Given the description of an element on the screen output the (x, y) to click on. 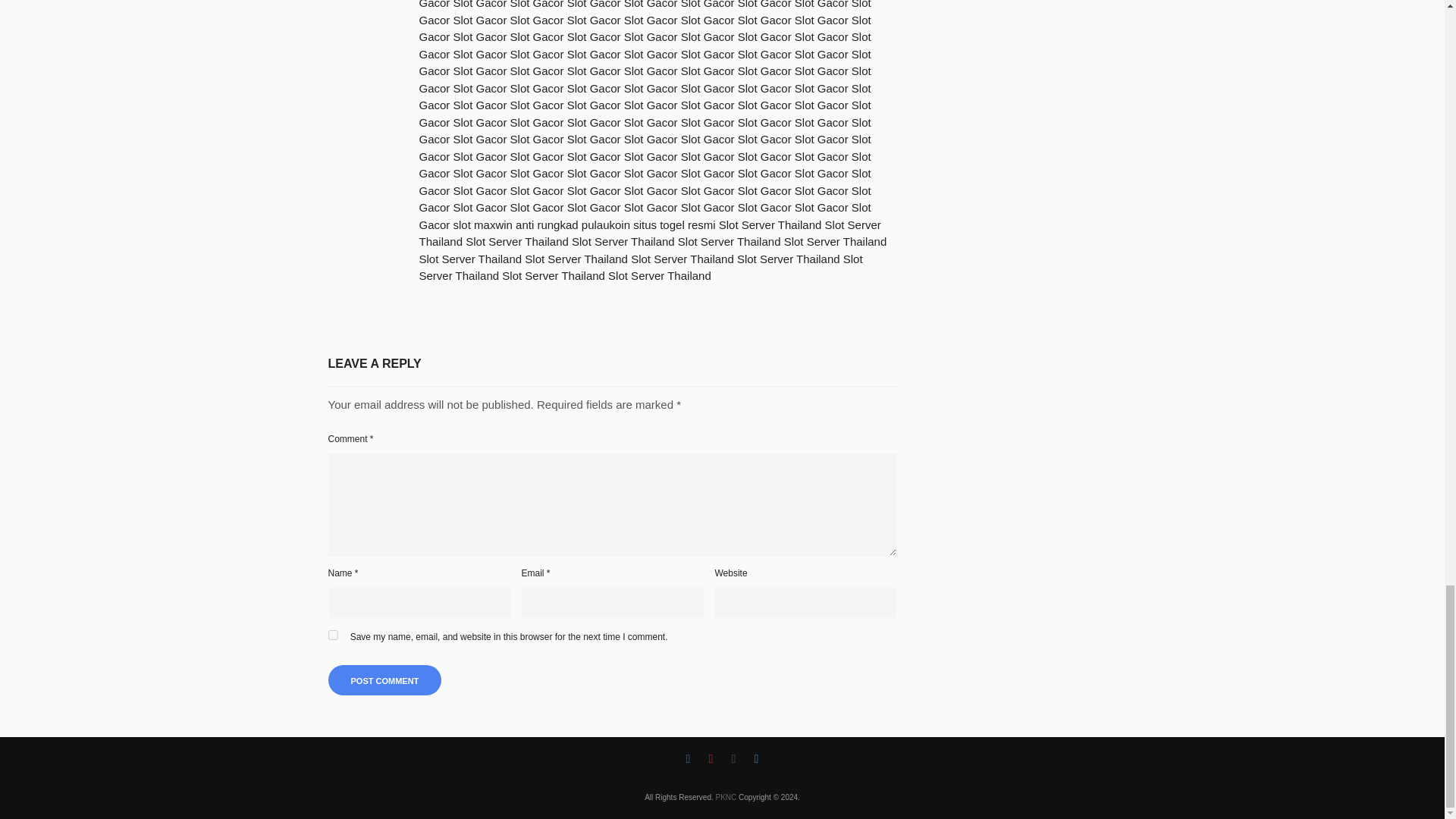
Facebook (687, 759)
E-mail (732, 759)
YouTube (710, 759)
Post Comment (384, 680)
yes (332, 634)
Whatsapp (755, 759)
